Given the description of an element on the screen output the (x, y) to click on. 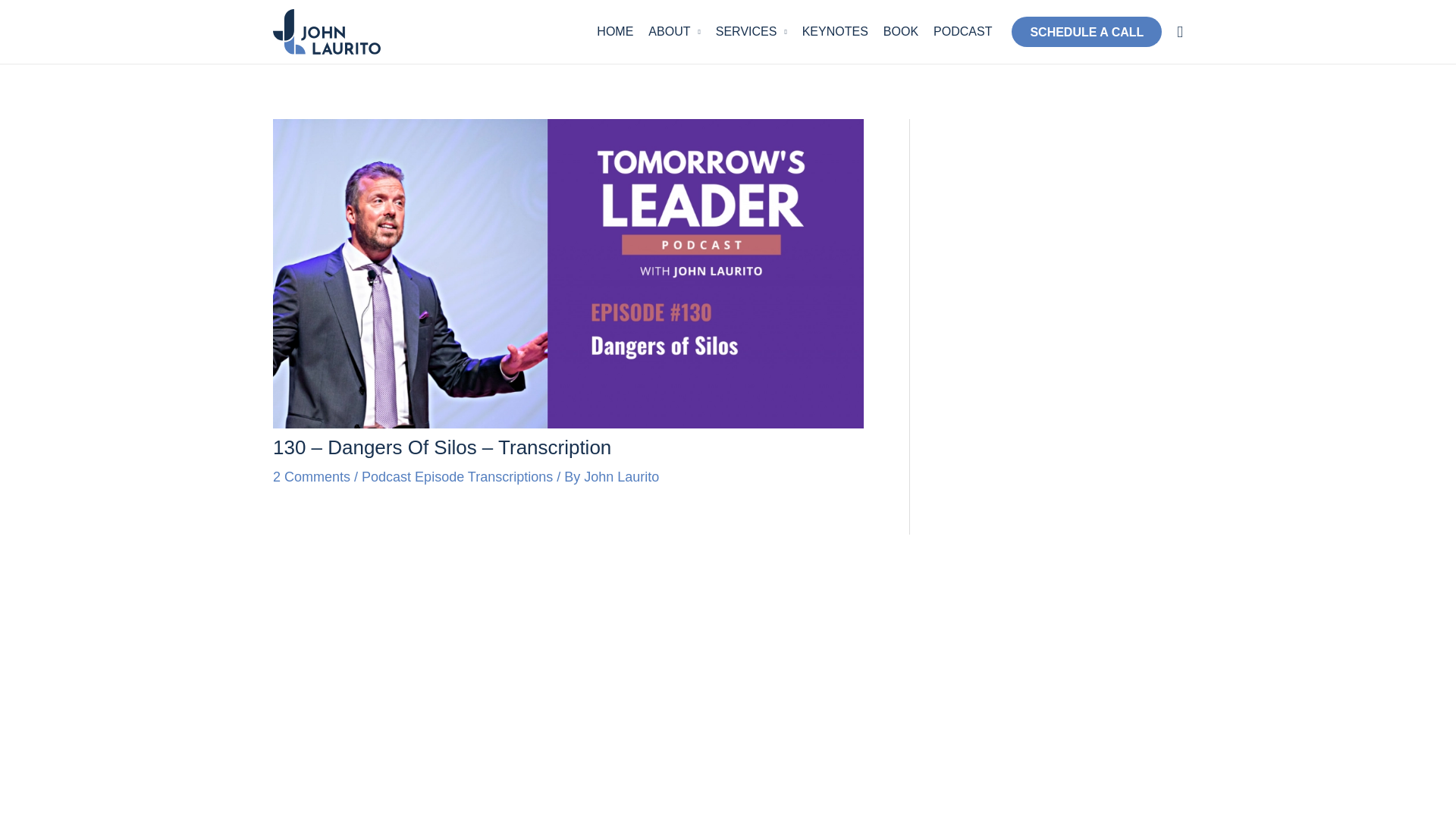
BOOK (901, 31)
2 Comments (311, 476)
Podcast Episode Transcriptions (457, 476)
KEYNOTES (835, 31)
HOME (614, 31)
PODCAST (962, 31)
John Laurito (621, 476)
View all posts by John Laurito (621, 476)
SERVICES (750, 31)
ABOUT (673, 31)
